Given the description of an element on the screen output the (x, y) to click on. 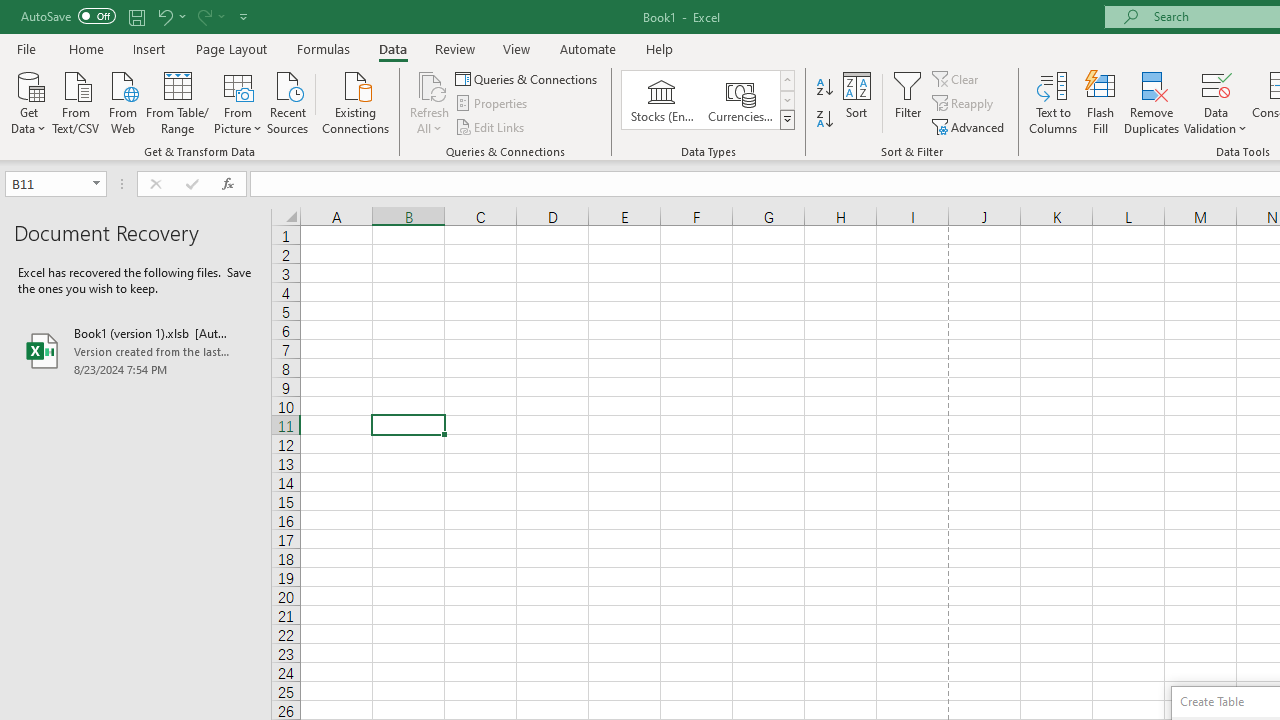
Help (660, 48)
Save (136, 15)
Data (392, 48)
Home (86, 48)
Flash Fill (1101, 102)
Get Data (28, 101)
From Web (122, 101)
Data Validation... (1215, 84)
Quick Access Toolbar (136, 16)
File Tab (26, 48)
Filter (908, 102)
Currencies (English) (740, 100)
From Text/CSV (75, 101)
Advanced... (970, 126)
Formulas (323, 48)
